Given the description of an element on the screen output the (x, y) to click on. 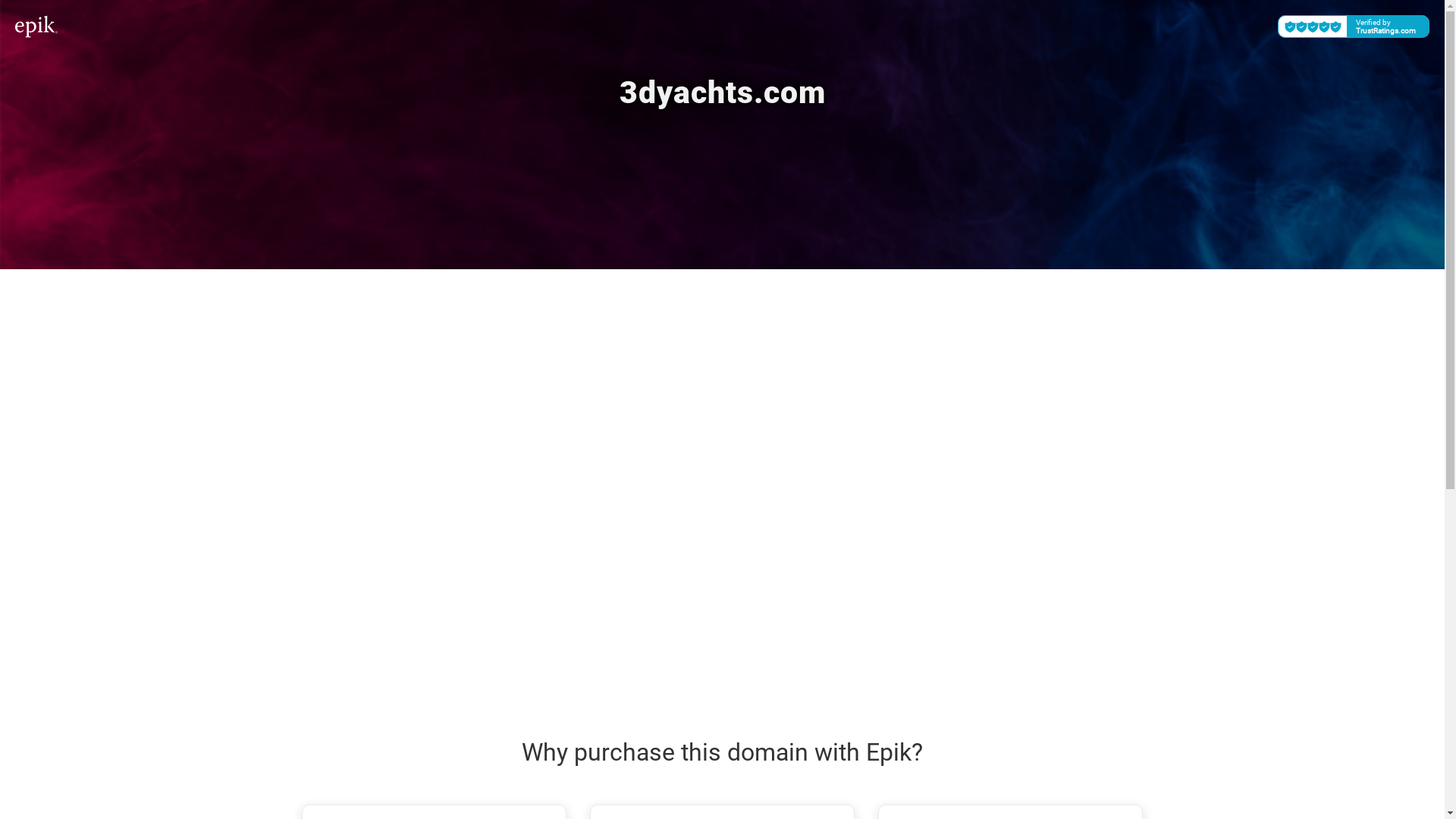
Verified by TrustRatings.com Element type: hover (1353, 26)
